Given the description of an element on the screen output the (x, y) to click on. 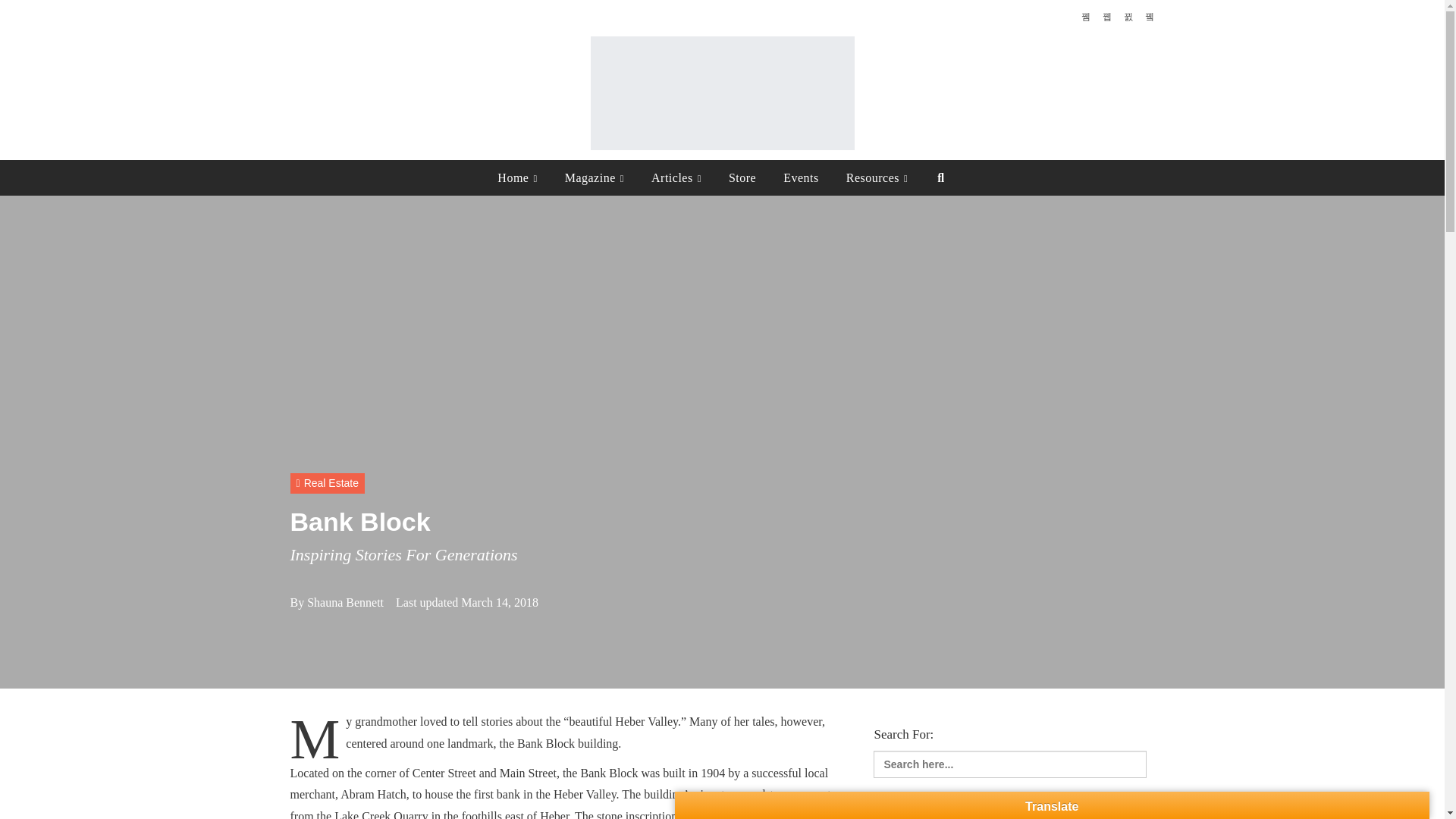
Events (801, 177)
Magazine (594, 177)
Articles (676, 177)
Store (742, 177)
Home (516, 177)
Real Estate (327, 483)
Resources (877, 177)
By Shauna Bennett (336, 602)
